Given the description of an element on the screen output the (x, y) to click on. 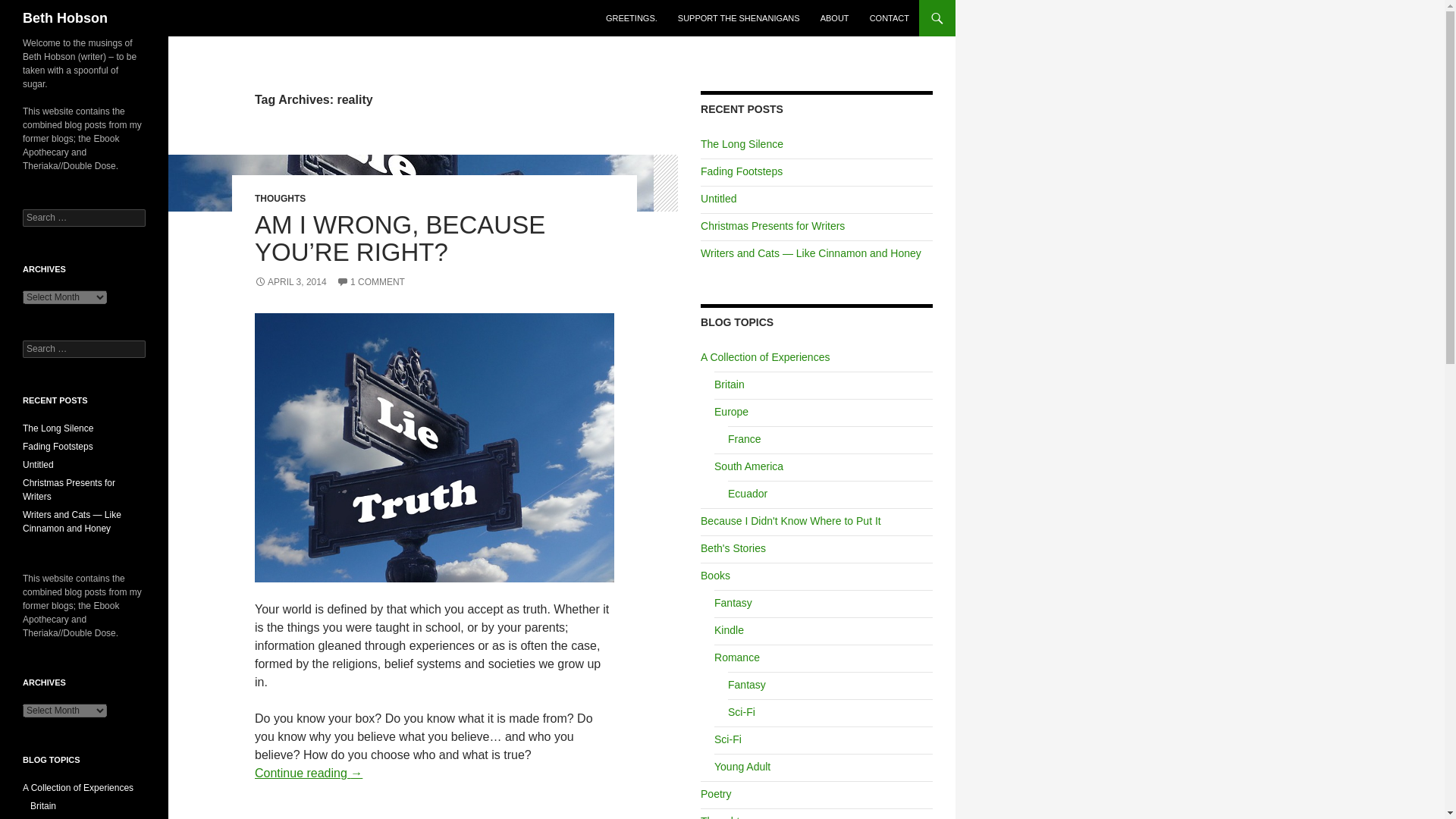
Romance (737, 657)
Christmas Presents for Writers (772, 225)
Europe (731, 411)
APRIL 3, 2014 (290, 281)
Britain (729, 384)
Untitled (718, 198)
South America (748, 466)
Ecuador (747, 493)
A Collection of Experiences (764, 357)
Beth Hobson (65, 18)
Kindle (729, 630)
1 COMMENT (370, 281)
CONTACT (889, 18)
